Given the description of an element on the screen output the (x, y) to click on. 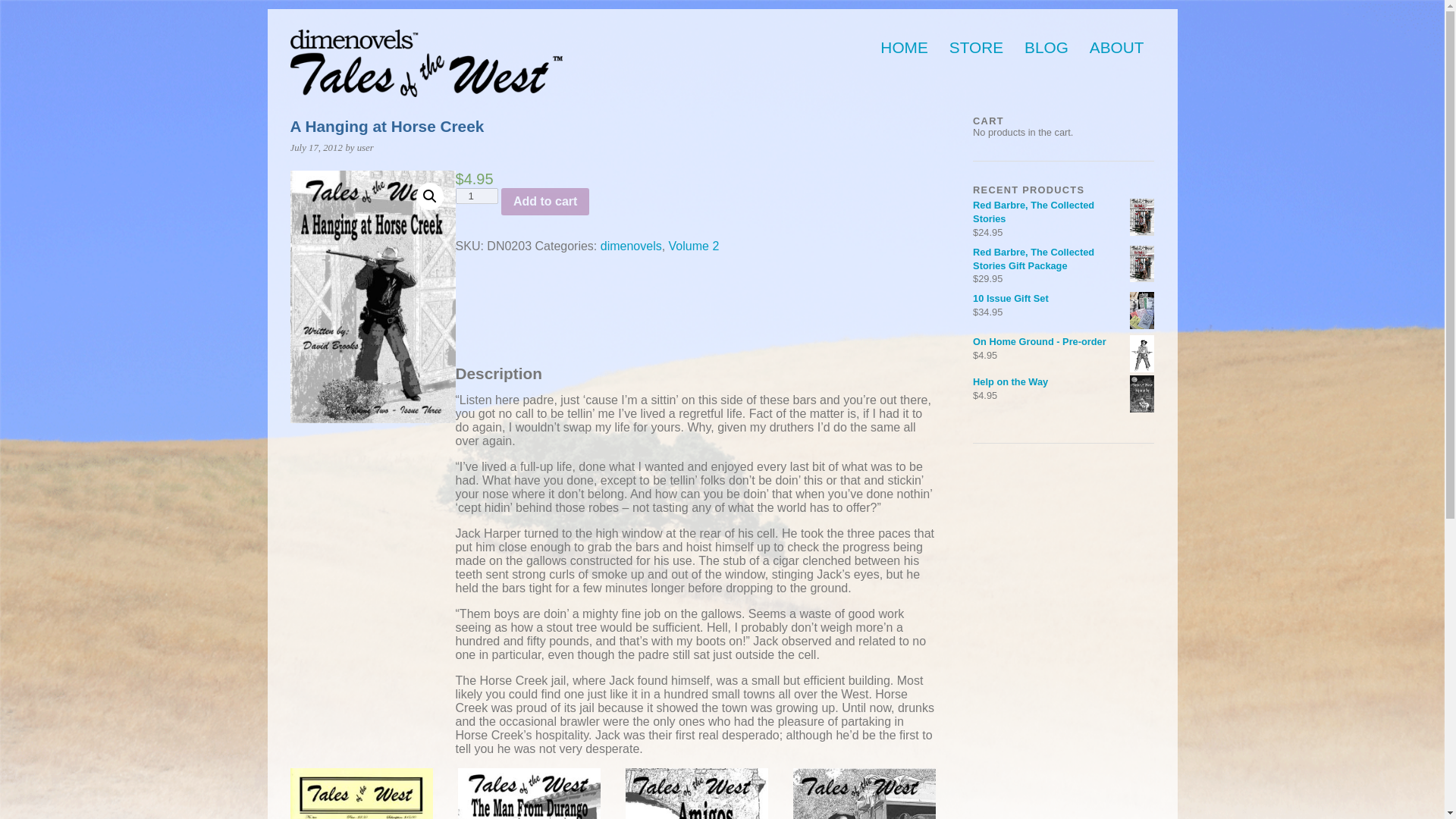
Help on the Way (1063, 382)
Red Barbre, The Collected Stories (1063, 212)
dimenovels (630, 245)
Volume 2 (693, 245)
Red Barbre, The Collected Stories Gift Package (1063, 258)
Qty (476, 195)
Add to cart (544, 201)
HOME (903, 47)
10 Issue Gift Set (1063, 298)
ABOUT (1116, 47)
